Given the description of an element on the screen output the (x, y) to click on. 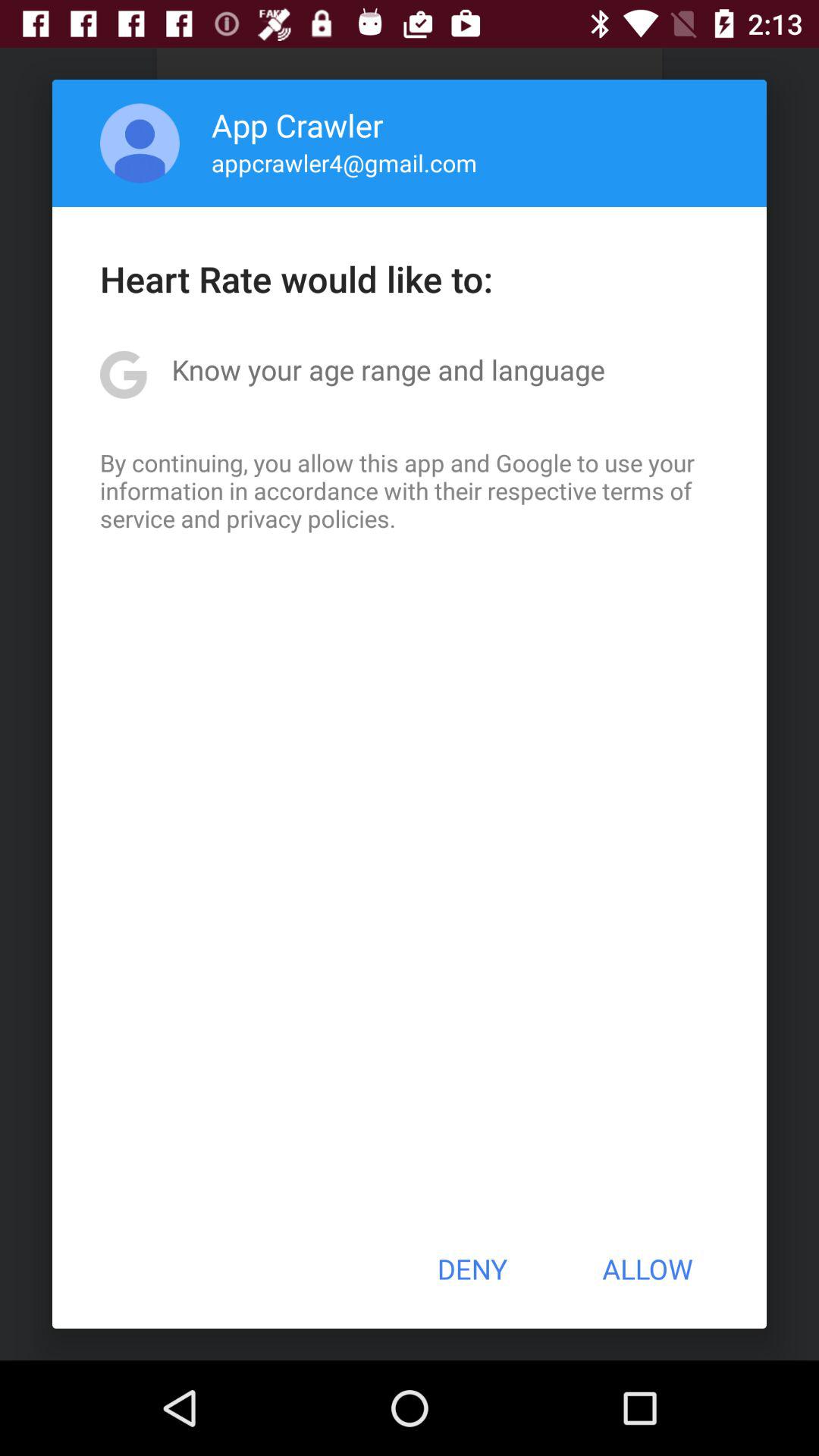
turn off know your age item (388, 369)
